Given the description of an element on the screen output the (x, y) to click on. 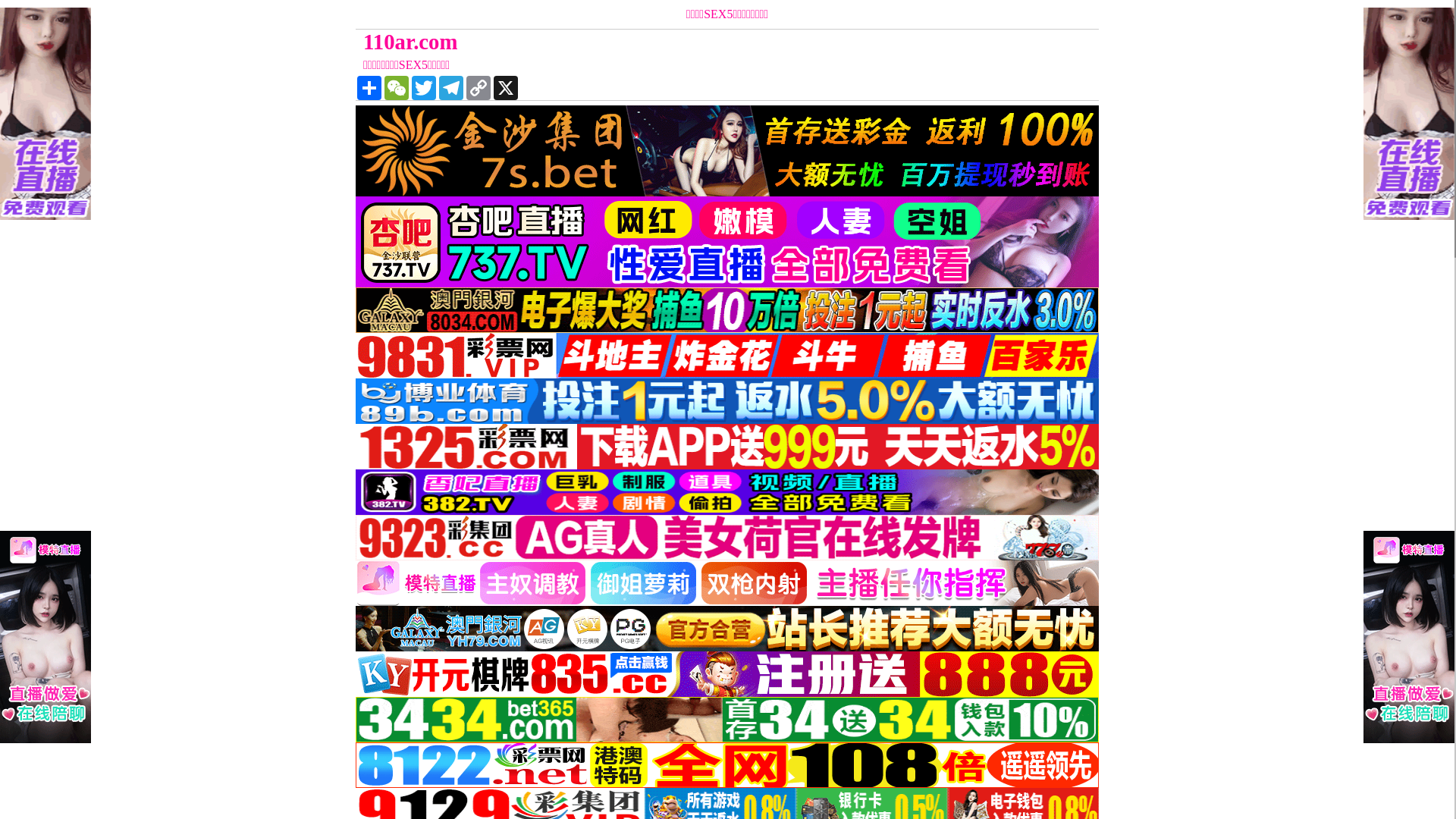
X Element type: text (505, 87)
Copy Link Element type: text (478, 87)
110ar.com Element type: text (634, 41)
Twitter Element type: text (423, 87)
WeChat Element type: text (396, 87)
Telegram Element type: text (450, 87)
